Given the description of an element on the screen output the (x, y) to click on. 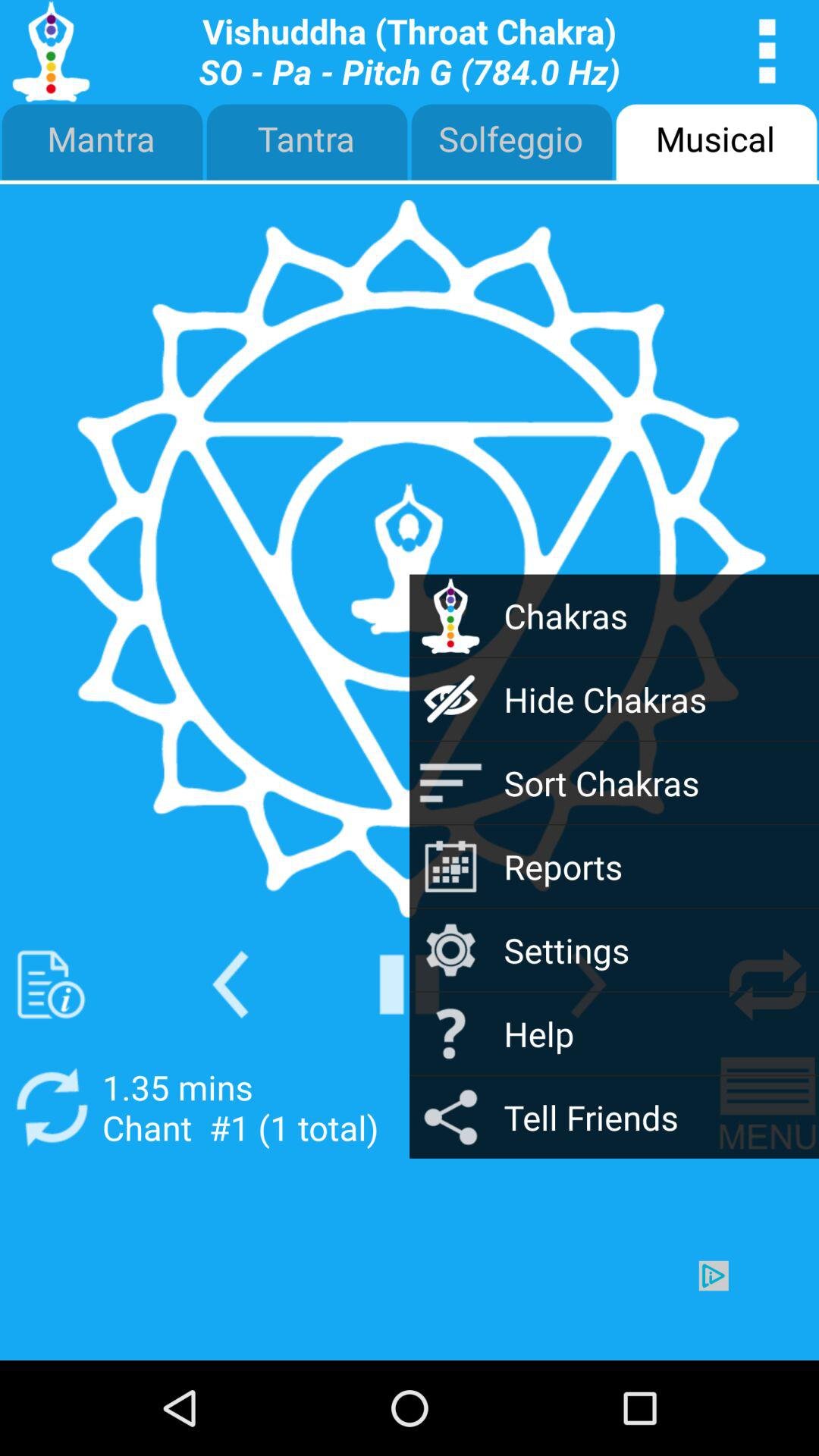
click to refresh (767, 984)
